Given the description of an element on the screen output the (x, y) to click on. 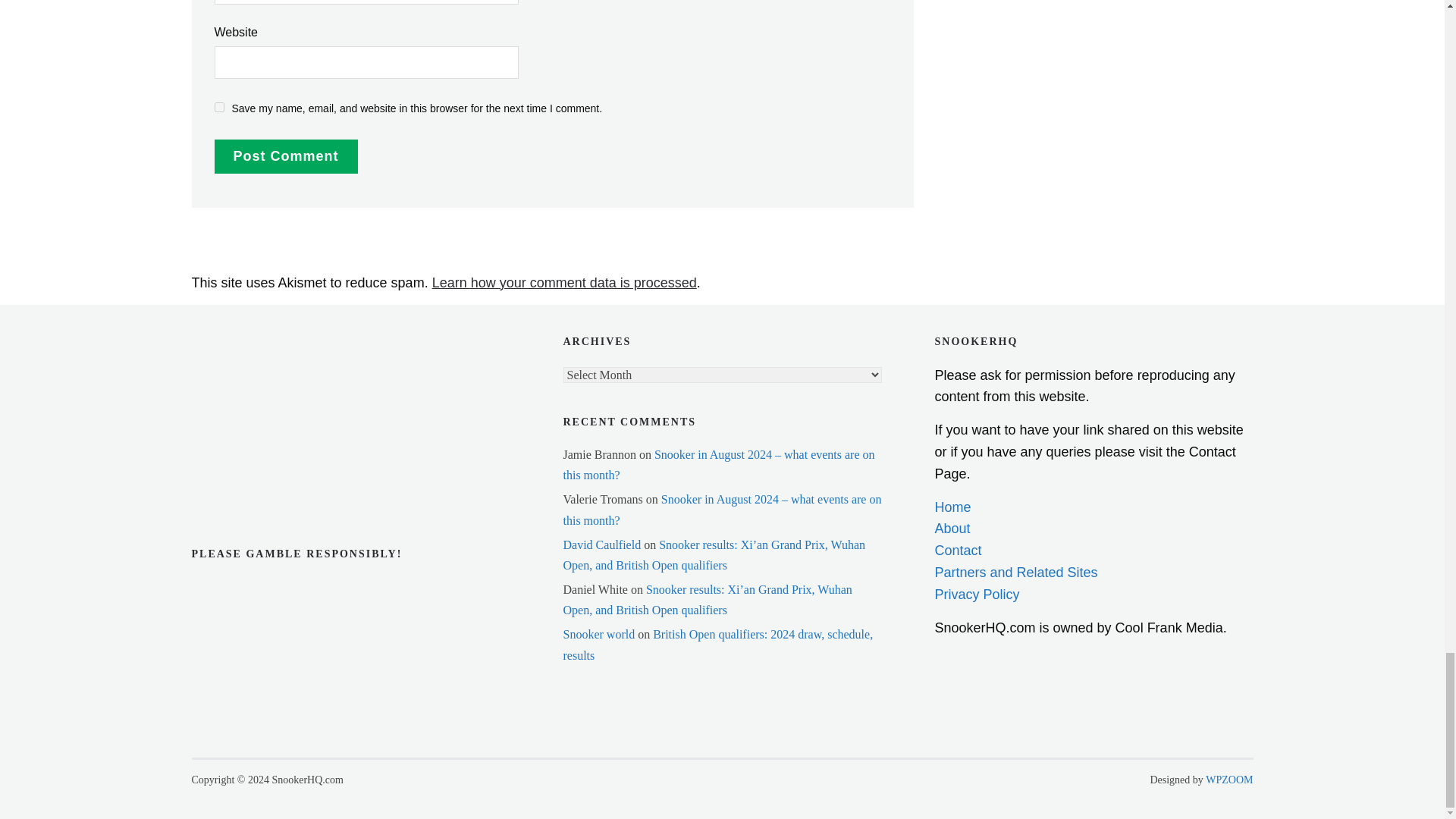
non-gamstop-betting-sites (266, 436)
nongamstopbets-sports-betting (266, 390)
Post Comment (285, 156)
yes (219, 107)
ngc-uk-betting-sites-not-on-gamstop (266, 345)
